Given the description of an element on the screen output the (x, y) to click on. 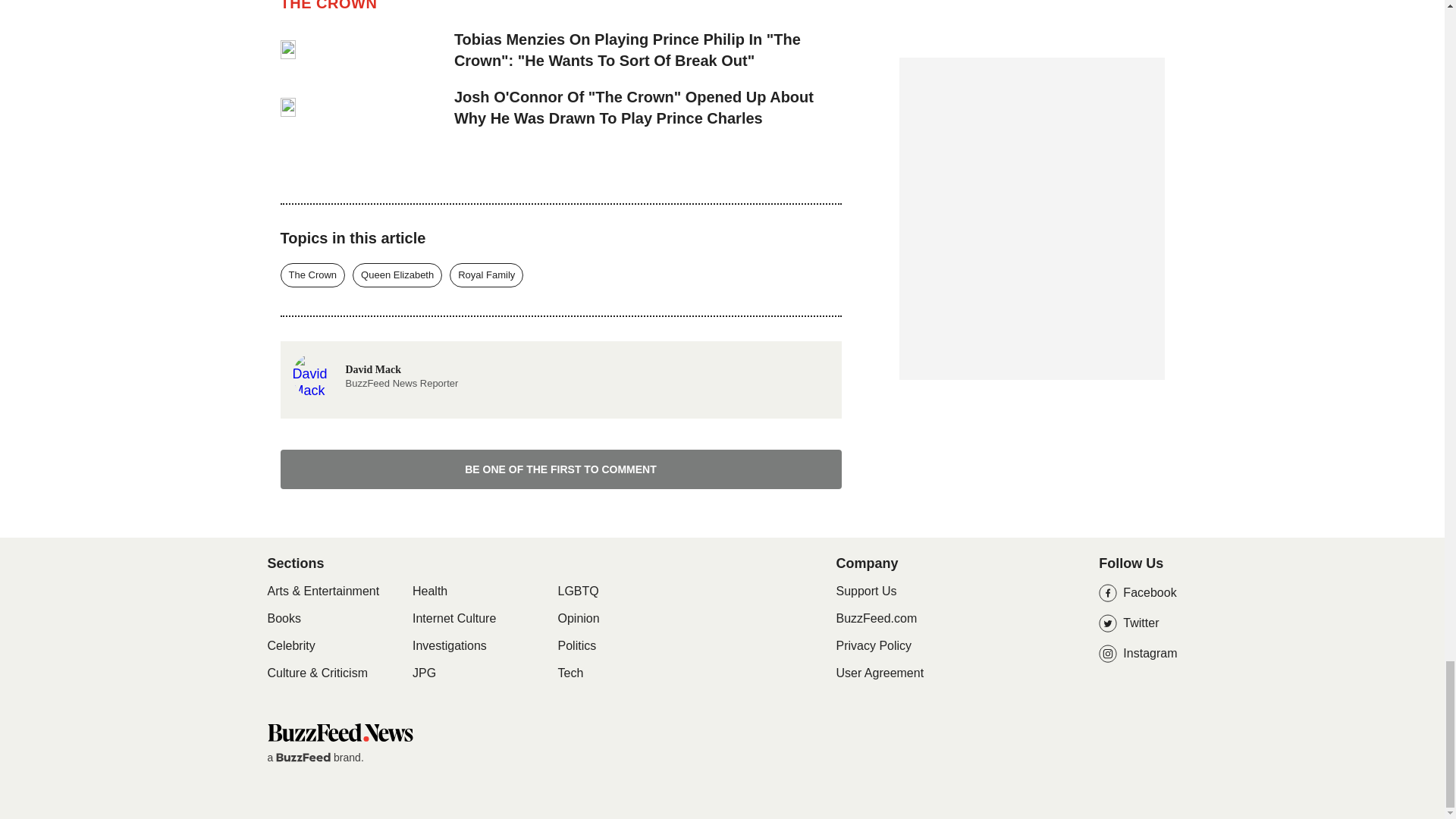
Books (282, 618)
BuzzFeed (303, 757)
Queen Elizabeth (375, 373)
BE ONE OF THE FIRST TO COMMENT (397, 274)
Royal Family (561, 468)
The Crown (485, 274)
Health (313, 274)
Celebrity (429, 590)
Internet Culture (290, 645)
BuzzFeed News Home (454, 618)
